Given the description of an element on the screen output the (x, y) to click on. 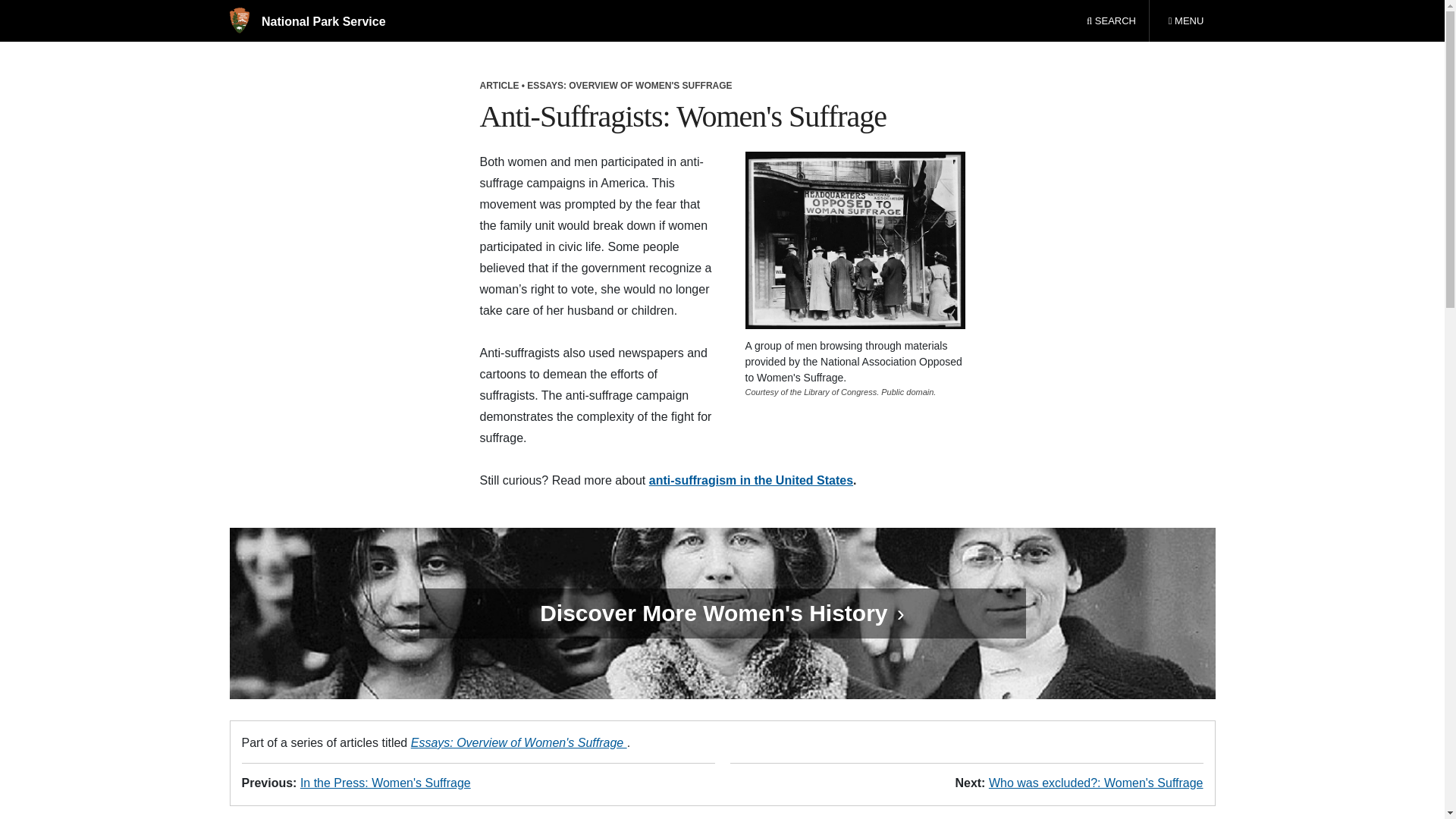
Discover More Women's History (1185, 20)
SEARCH (716, 612)
In the Press: Women's Suffrage (1111, 20)
National Park Service (384, 782)
Essays: Overview of Women's Suffrage (307, 20)
anti-suffragism in the United States (518, 742)
